Given the description of an element on the screen output the (x, y) to click on. 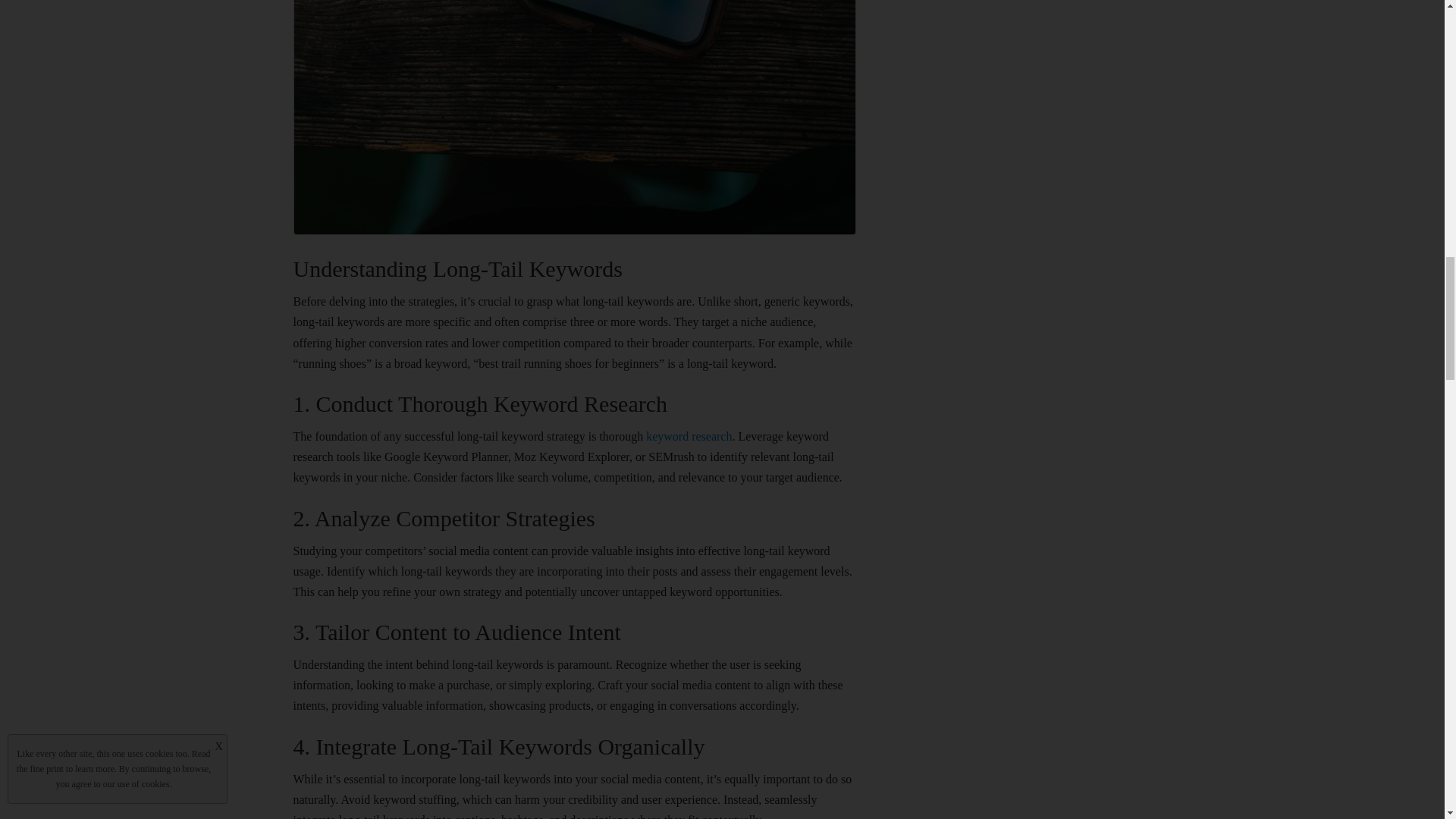
keyword research (689, 436)
